Given the description of an element on the screen output the (x, y) to click on. 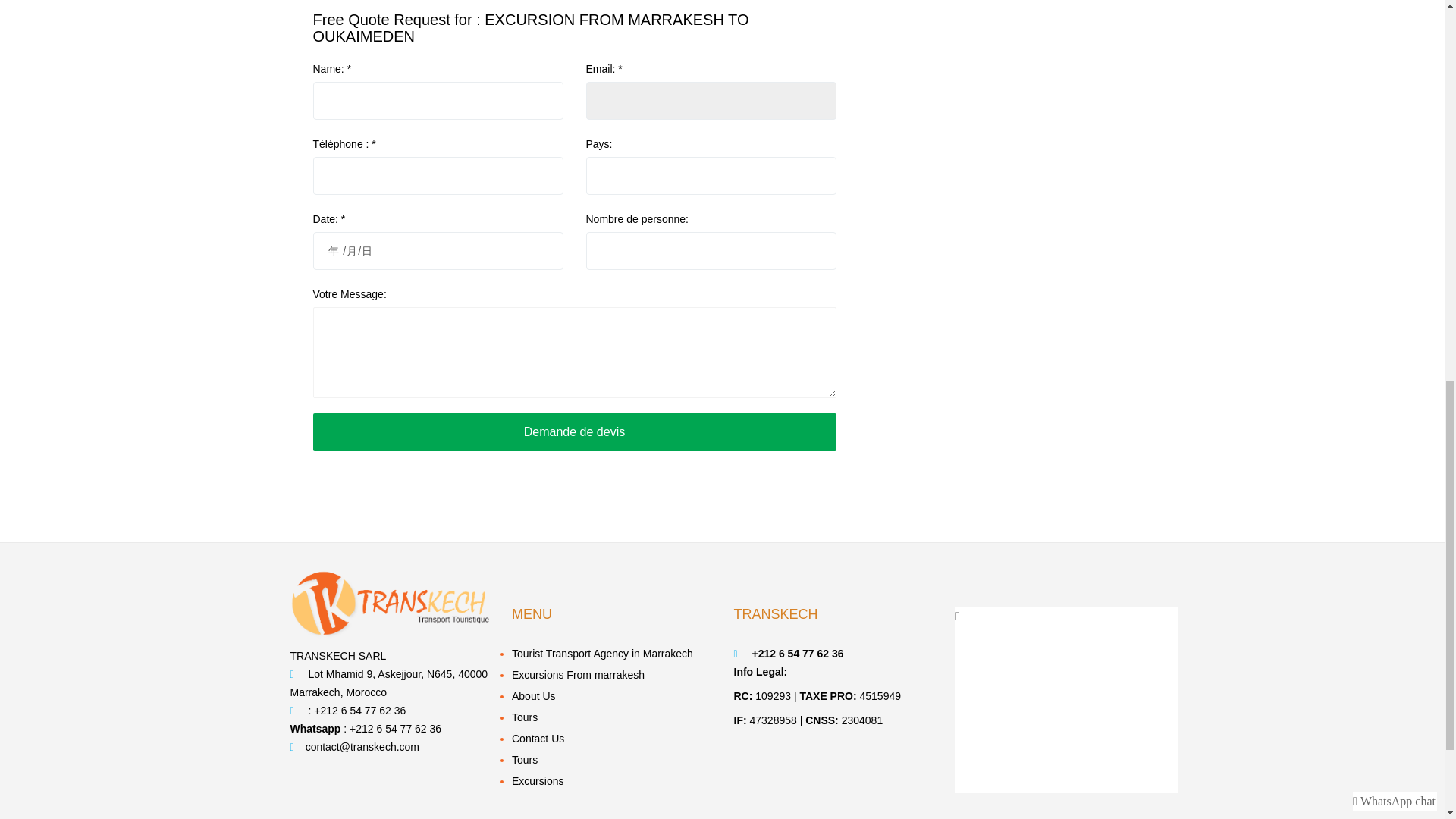
Demande de devis (574, 431)
